Given the description of an element on the screen output the (x, y) to click on. 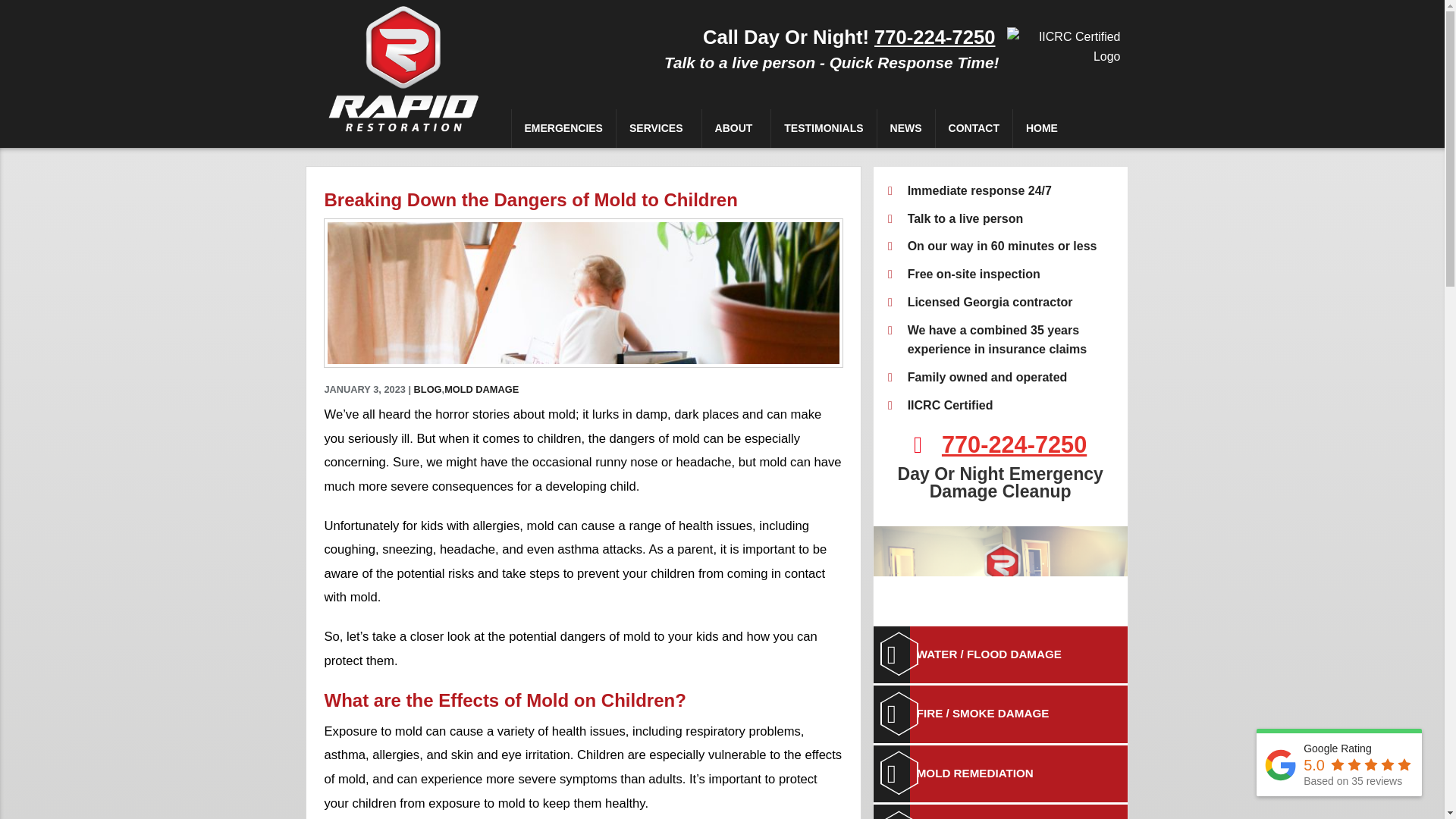
ABOUT (736, 127)
770-224-7250 (934, 36)
STORM DAMAGE (999, 811)
TESTIMONIALS (823, 127)
SERVICES (658, 127)
MOLD REMEDIATION (999, 773)
EMERGENCIES (562, 127)
770-224-7250 (1014, 444)
BLOG (427, 389)
Our Company (736, 166)
